Given the description of an element on the screen output the (x, y) to click on. 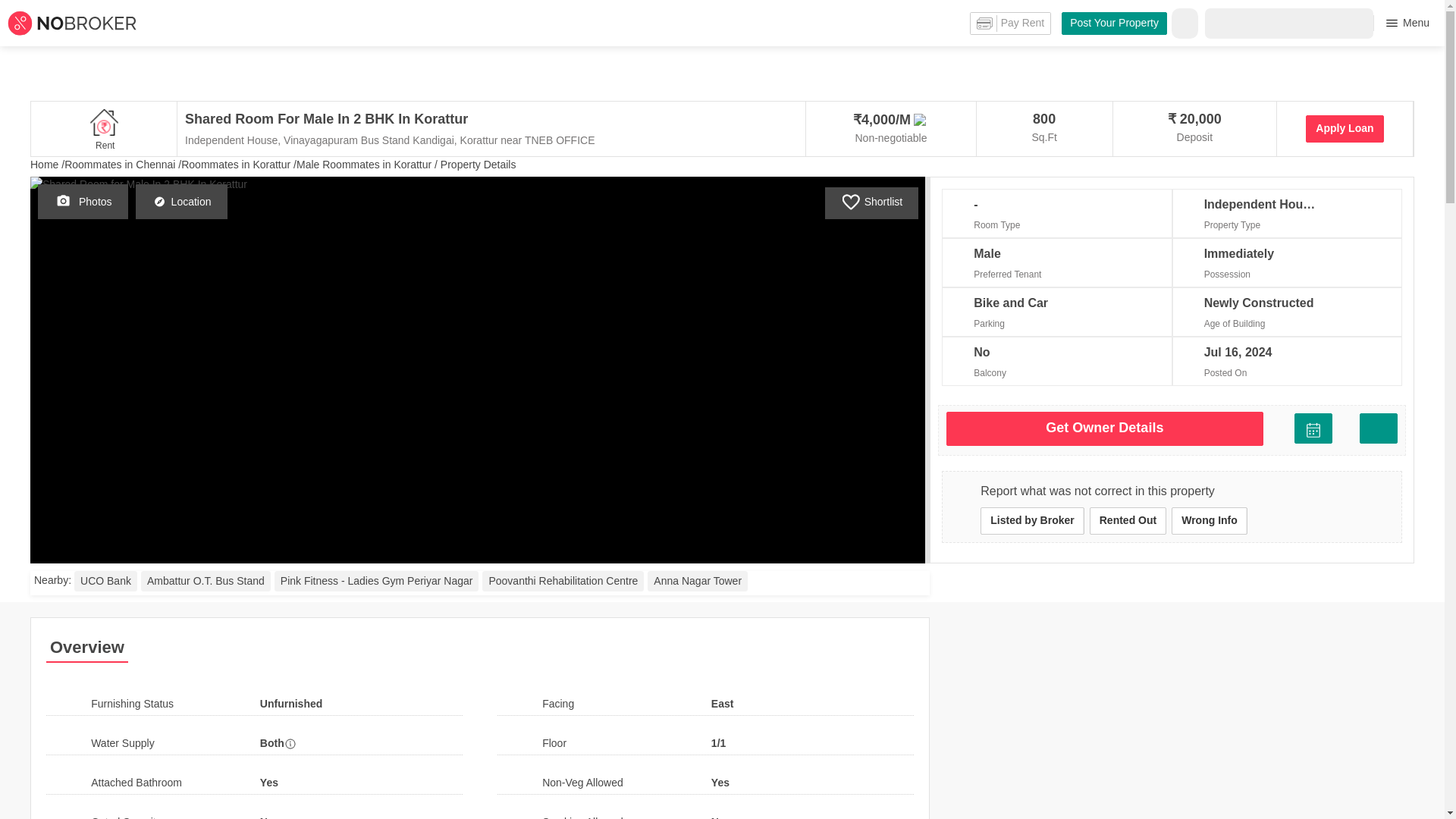
Shared Room for Male In 2 BHK  In Korattur (389, 118)
Pink Fitness - Ladies Gym Periyar Nagar (377, 580)
UCO Bank (105, 580)
Wrong Info (1209, 520)
Post Your Property (1114, 23)
Ambattur O.T. Bus Stand (205, 580)
Apply Loan (1344, 128)
Poovanthi Rehabilitation Centre (562, 580)
Listed by Broker (1031, 520)
Rented Out (1127, 520)
